Given the description of an element on the screen output the (x, y) to click on. 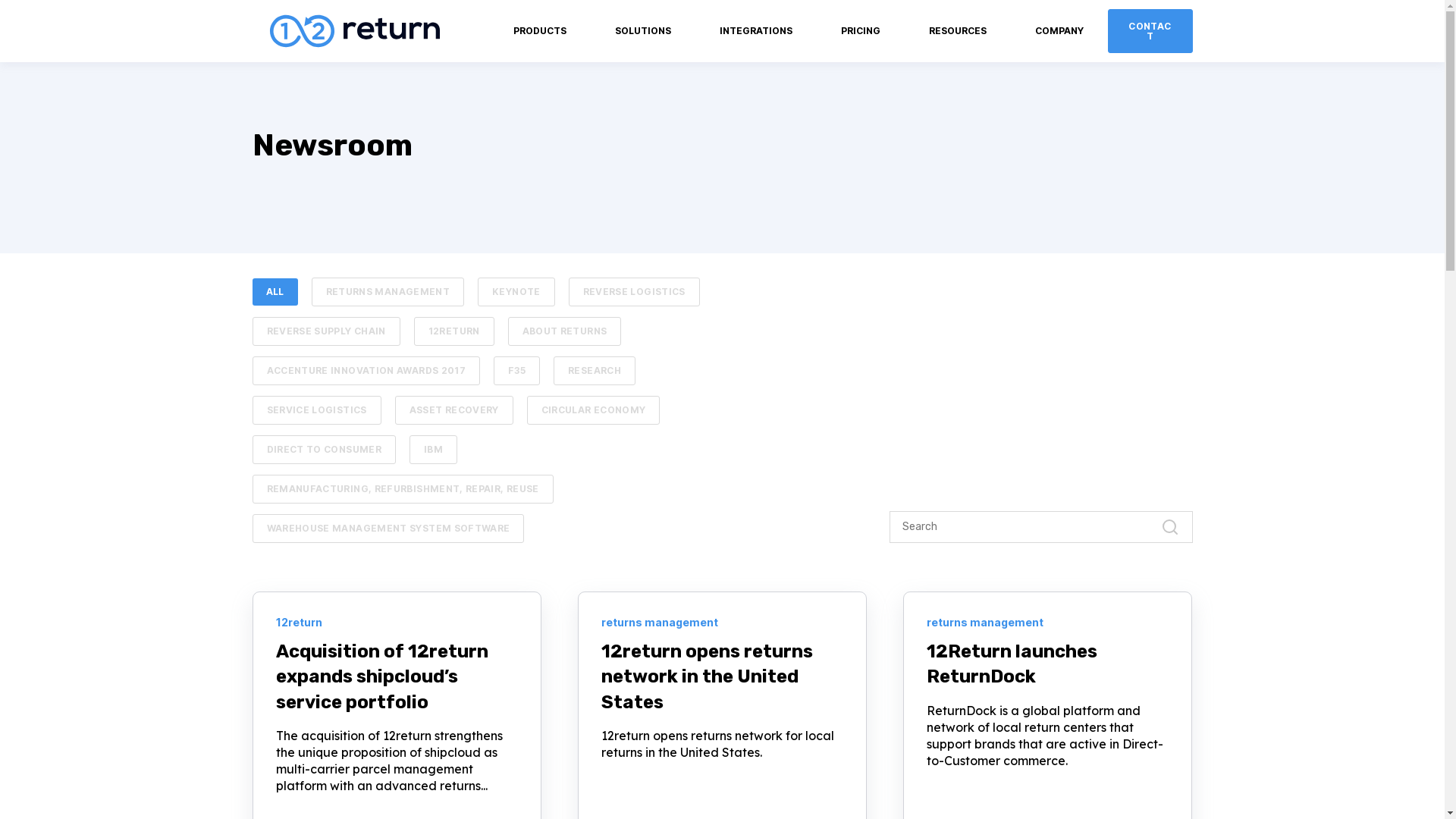
F35 Element type: text (516, 370)
ASSET RECOVERY Element type: text (454, 409)
ALL Element type: text (274, 291)
KEYNOTE Element type: text (516, 291)
REVERSE SUPPLY CHAIN Element type: text (325, 330)
CIRCULAR ECONOMY Element type: text (593, 409)
WAREHOUSE MANAGEMENT SYSTEM SOFTWARE Element type: text (387, 528)
IBM Element type: text (433, 449)
ABOUT RETURNS Element type: text (564, 330)
RETURNS MANAGEMENT Element type: text (387, 291)
COMPANY Element type: text (1058, 30)
12RETURN Element type: text (454, 330)
RESOURCES Element type: text (956, 30)
RESEARCH Element type: text (594, 370)
SERVICE LOGISTICS Element type: text (315, 409)
CONTACT Element type: text (1149, 31)
DIRECT TO CONSUMER Element type: text (323, 449)
12return opens returns network in the United States Element type: text (706, 676)
12Return launches ReturnDock Element type: text (1011, 663)
ACCENTURE INNOVATION AWARDS 2017 Element type: text (365, 370)
INTEGRATIONS Element type: text (754, 30)
REVERSE LOGISTICS Element type: text (633, 291)
PRICING Element type: text (859, 30)
REMANUFACTURING, REFURBISHMENT, REPAIR, REUSE Element type: text (401, 488)
PRODUCTS Element type: text (538, 30)
SOLUTIONS Element type: text (642, 30)
